Given the description of an element on the screen output the (x, y) to click on. 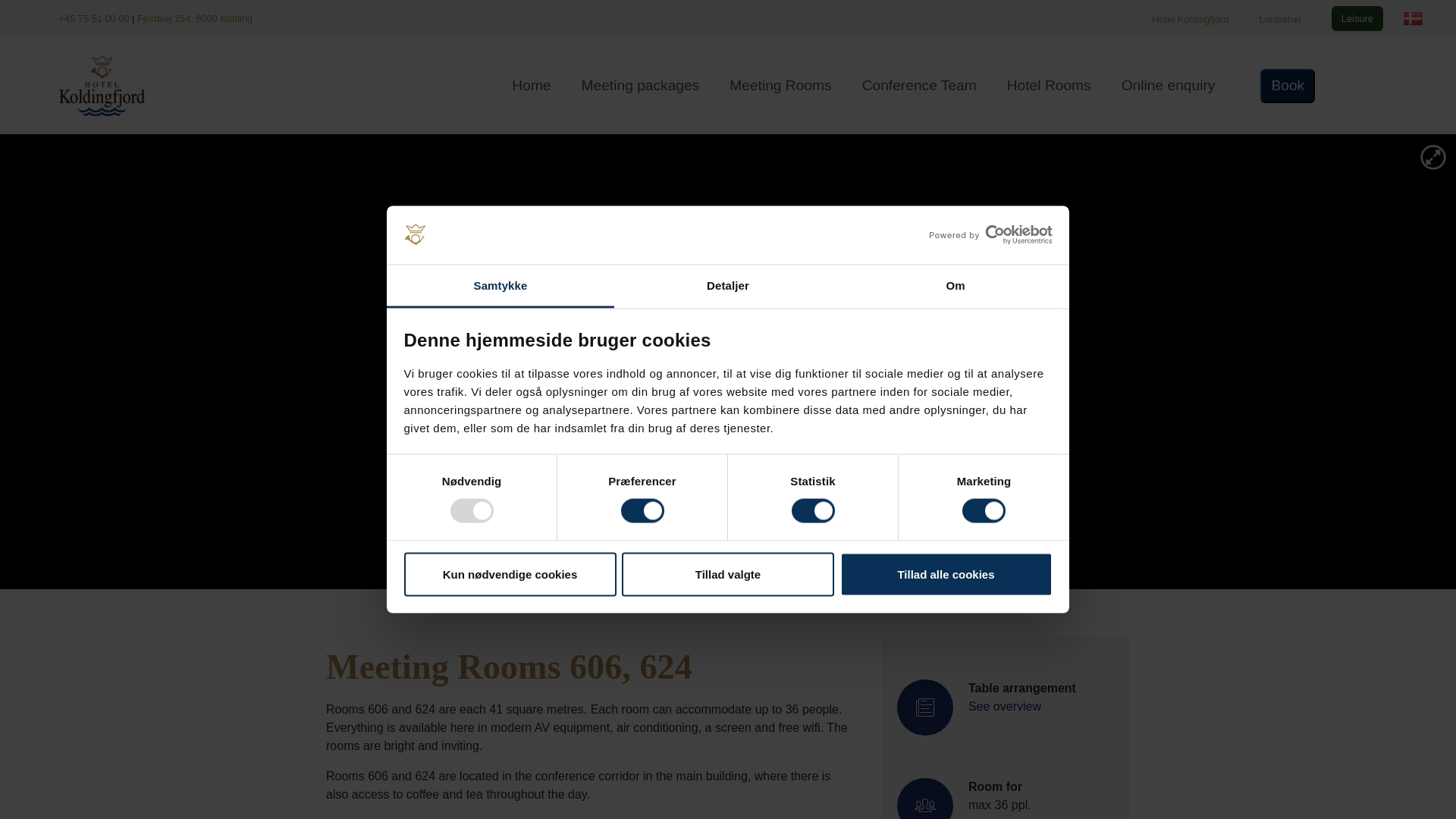
Hotel Koldingfjord (1189, 19)
Om (954, 285)
Samtykke (500, 285)
Koldingfjord Hotel (102, 85)
Detaljer (727, 285)
Leisure (1357, 18)
